Given the description of an element on the screen output the (x, y) to click on. 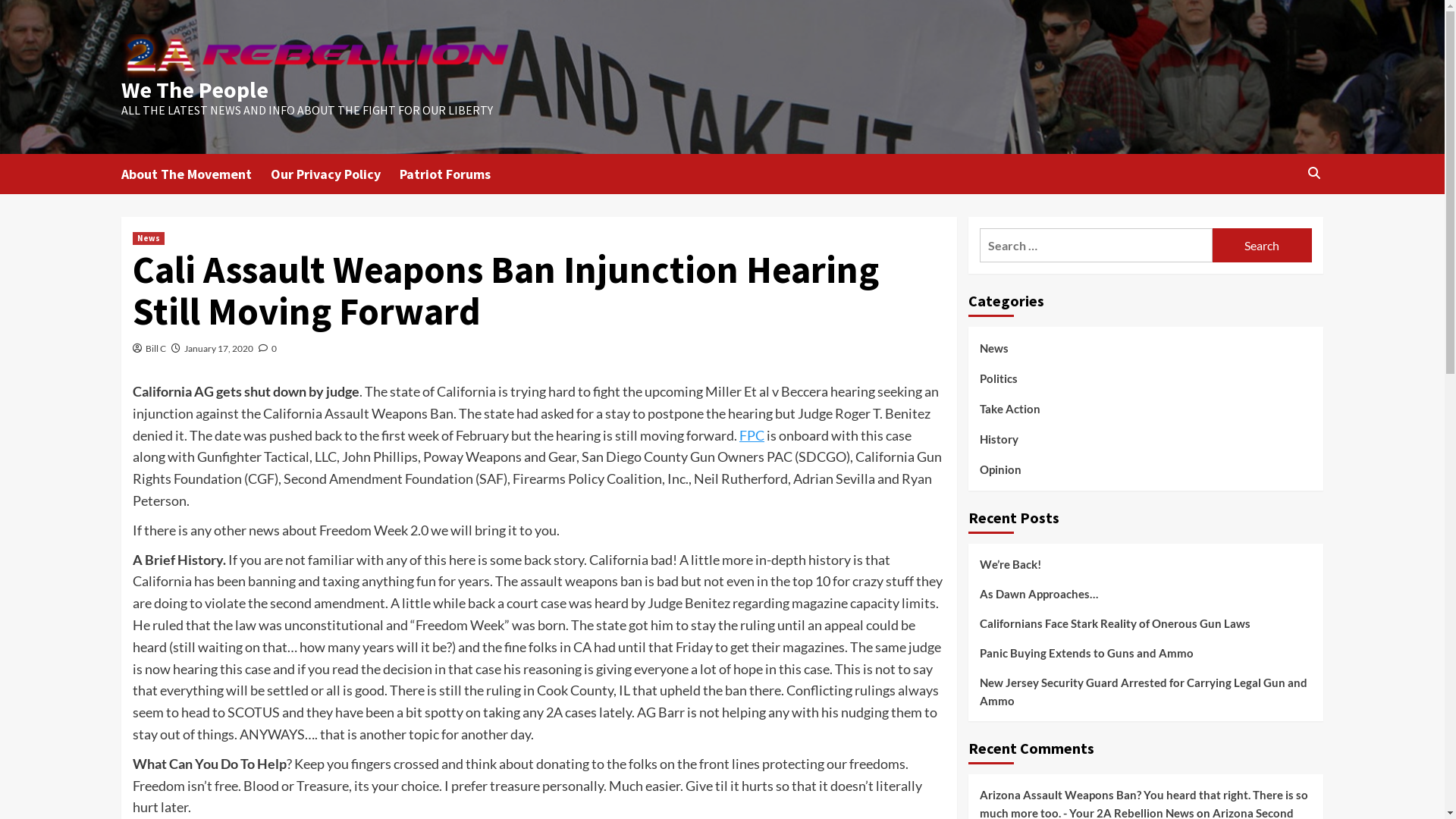
Panic Buying Extends to Guns and Ammo Element type: text (1145, 658)
Politics Element type: text (998, 383)
Our Privacy Policy Element type: text (334, 173)
Search Element type: text (1278, 220)
Patriot Forums Element type: text (454, 173)
We The People Element type: text (194, 89)
Search Element type: hover (1313, 173)
Opinion Element type: text (1000, 469)
January 17, 2020 Element type: text (218, 348)
News Element type: text (993, 353)
Bill C Element type: text (155, 348)
Californians Face Stark Reality of Onerous Gun Laws Element type: text (1145, 628)
0 Element type: text (267, 348)
History Element type: text (998, 444)
FPC Element type: text (751, 434)
About The Movement Element type: text (195, 173)
News Element type: text (148, 238)
Take Action Element type: text (1009, 414)
Search Element type: text (1261, 245)
